Given the description of an element on the screen output the (x, y) to click on. 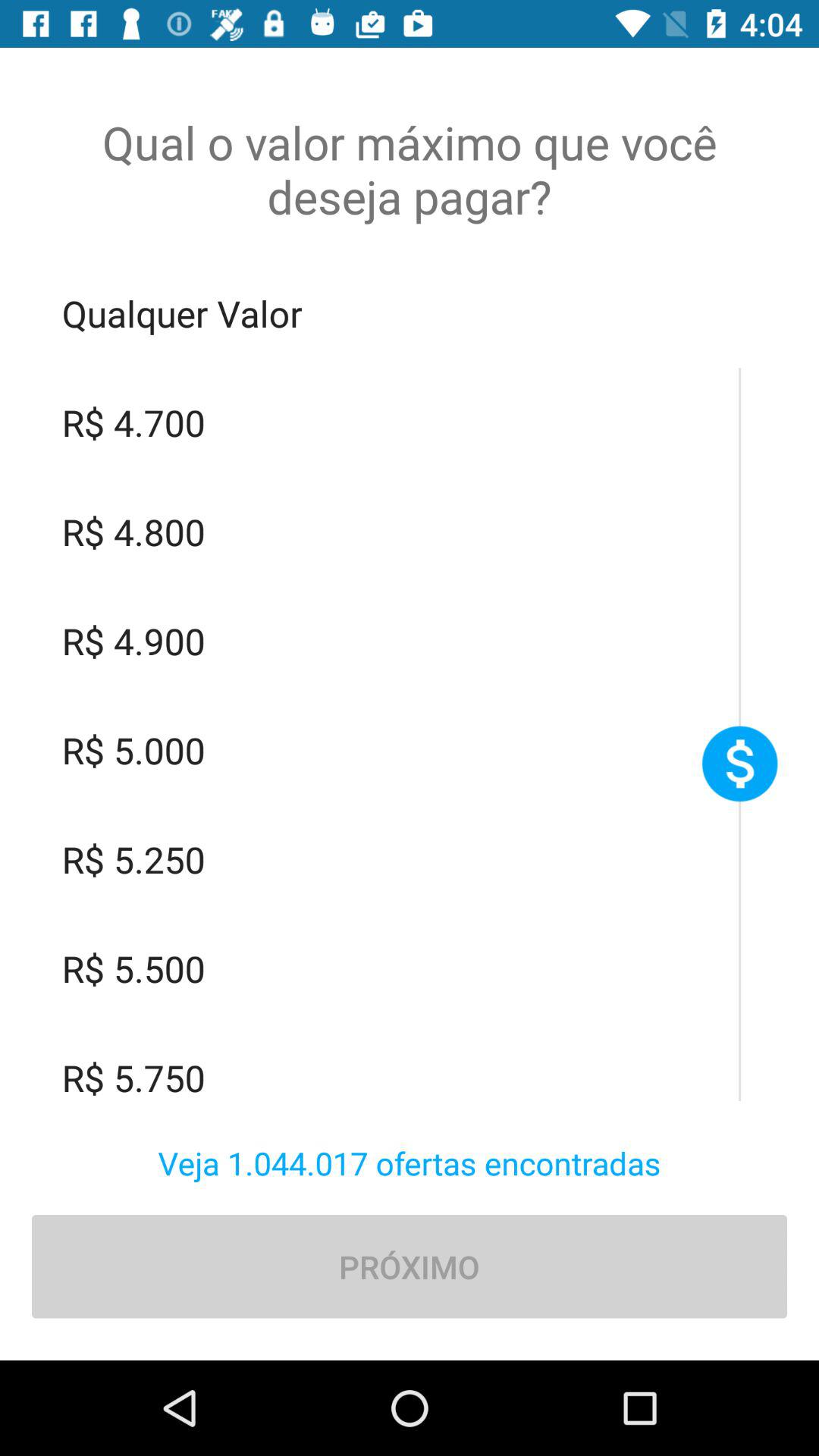
turn off the item below qual o valor (409, 312)
